Given the description of an element on the screen output the (x, y) to click on. 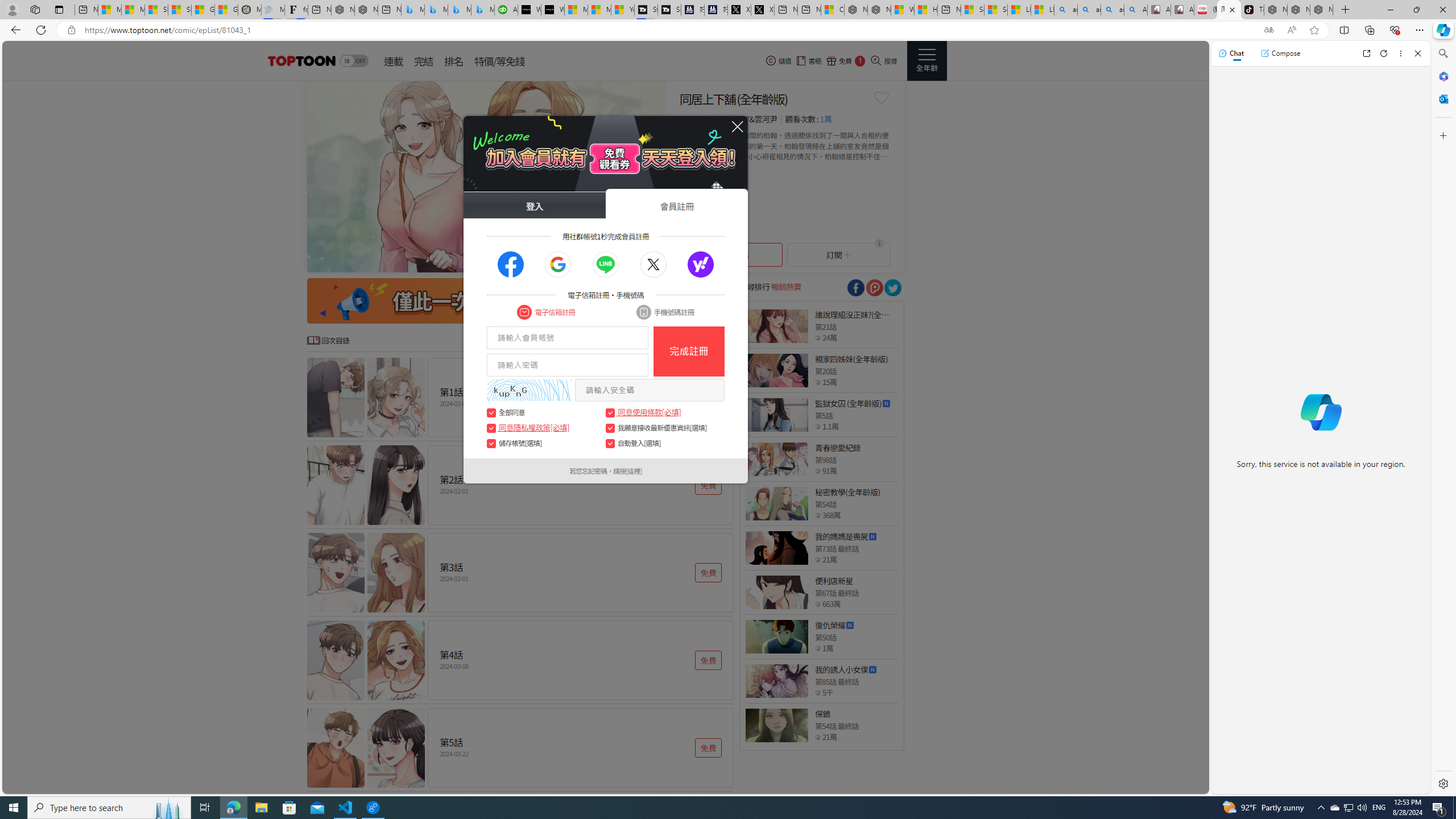
Class: thumb_img (776, 725)
Nordace - Best Sellers (1275, 9)
Nordace - Siena Pro 15 Essential Set (1321, 9)
Microsoft Start (598, 9)
Close (1417, 53)
